Given the description of an element on the screen output the (x, y) to click on. 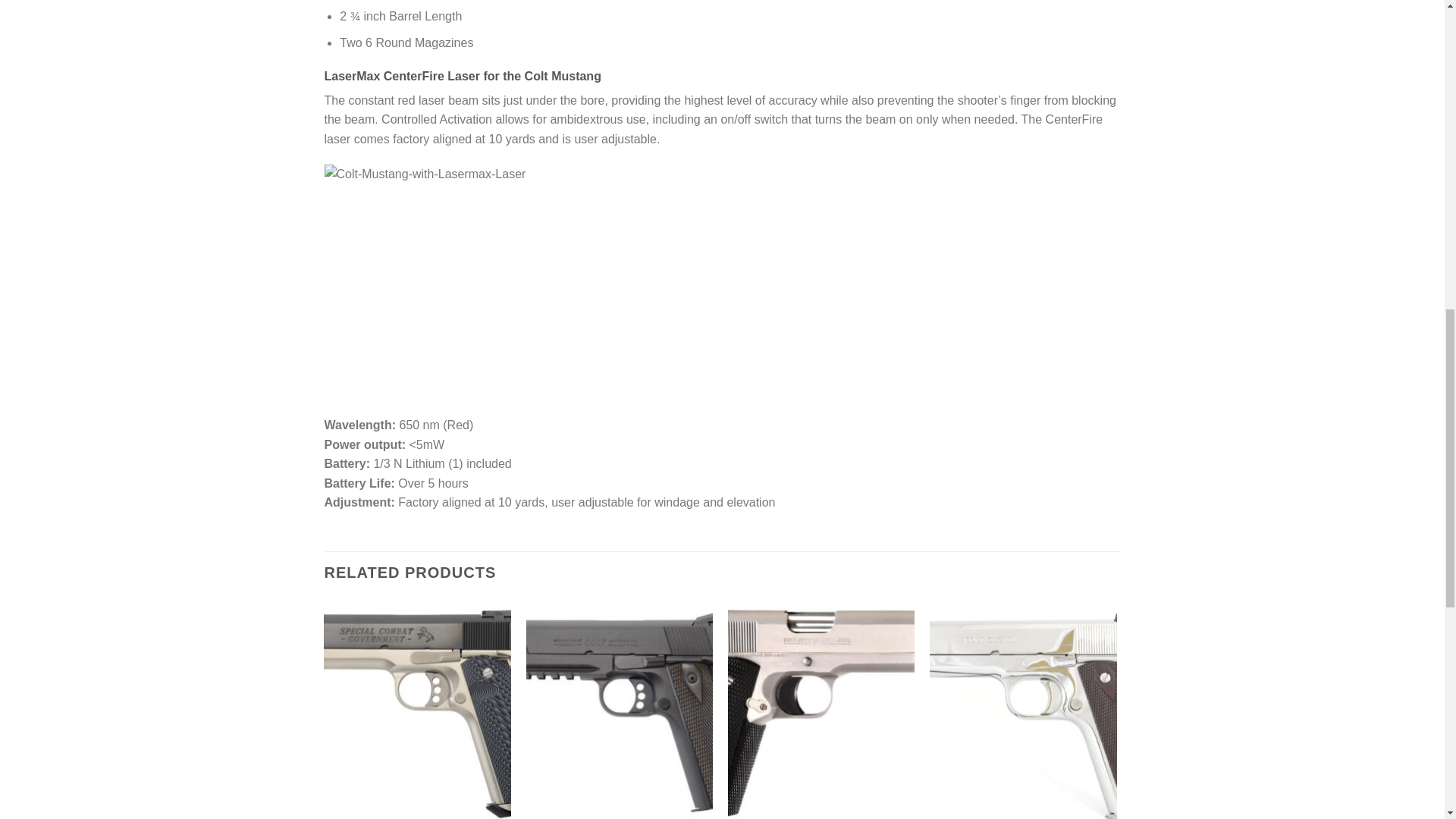
Colt Mustang Pocketlite 380 Auto with LaserMax Laser 3 (506, 281)
